Given the description of an element on the screen output the (x, y) to click on. 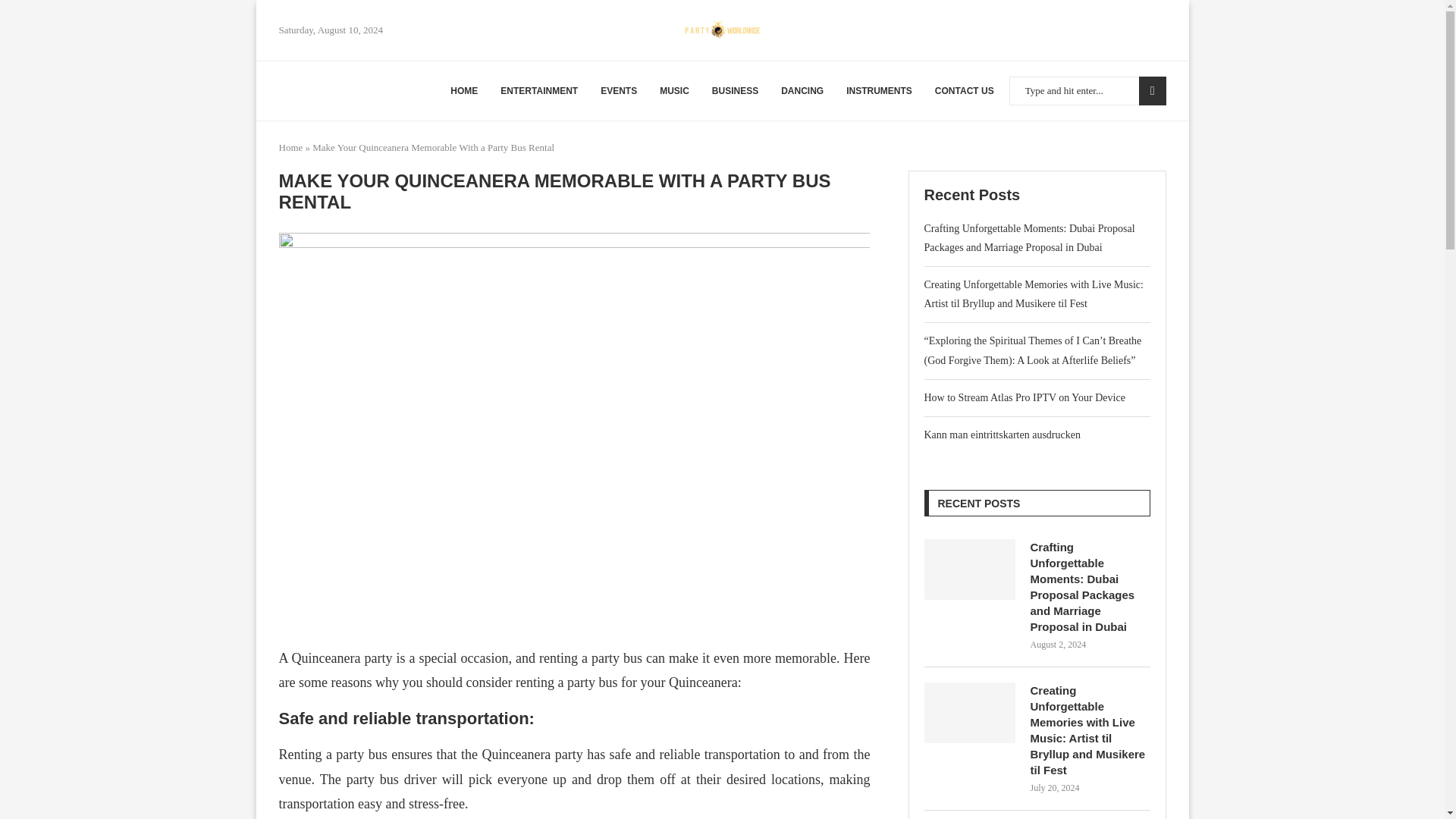
CONTACT US (964, 90)
DANCING (802, 90)
Search (1152, 90)
ENTERTAINMENT (539, 90)
INSTRUMENTS (878, 90)
BUSINESS (734, 90)
